Given the description of an element on the screen output the (x, y) to click on. 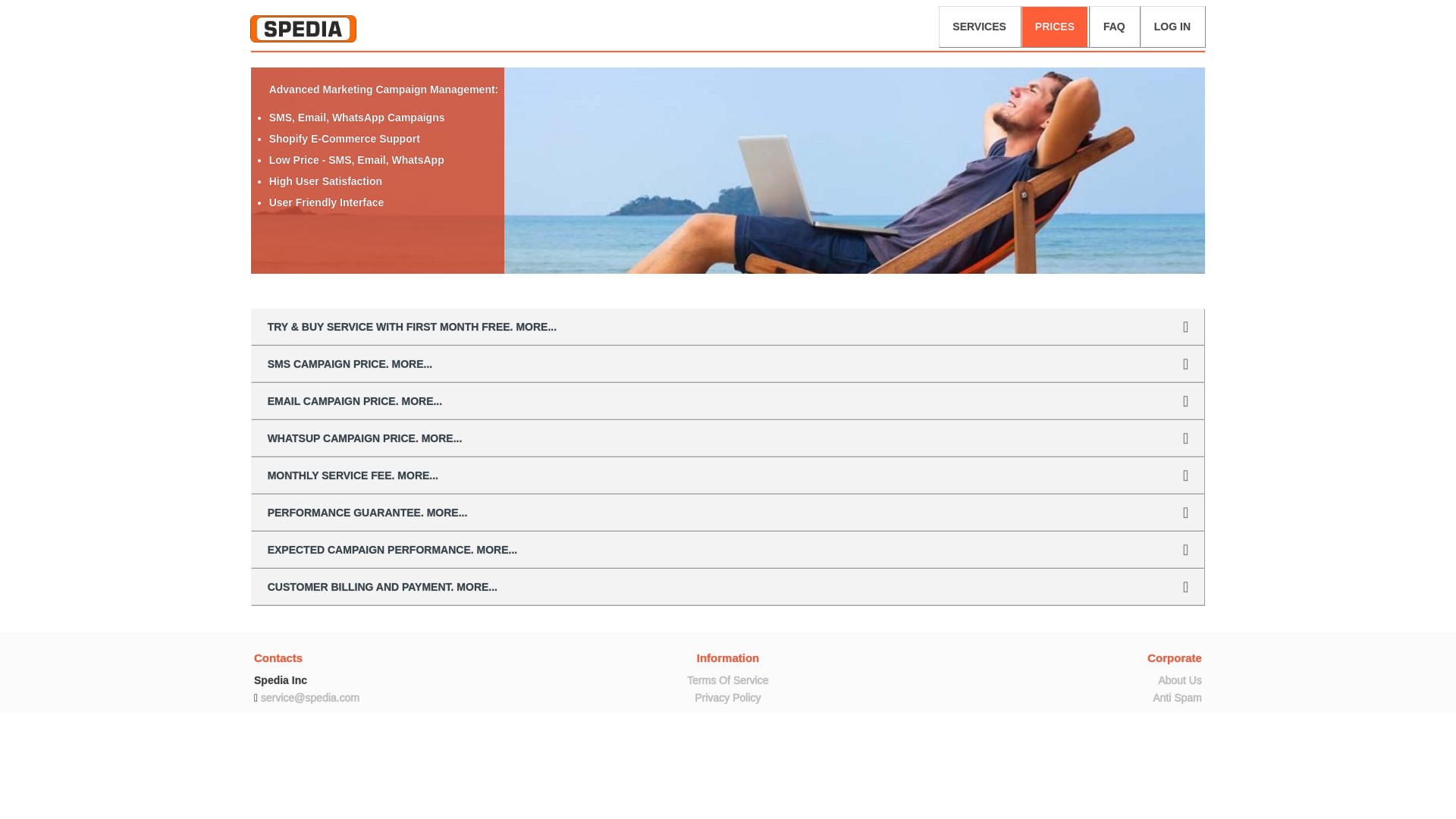
SMS CAMPAIGN PRICE. MORE... (727, 363)
MONTHLY SERVICE FEE. MORE... (727, 475)
CUSTOMER BILLING AND PAYMENT. MORE... (727, 586)
About Us (1179, 680)
LOG IN (1172, 26)
EXPECTED CAMPAIGN PERFORMANCE. MORE... (727, 549)
EMAIL CAMPAIGN PRICE. MORE... (727, 401)
SERVICES (979, 26)
Anti Spam (1177, 697)
PRICES (1054, 26)
